Given the description of an element on the screen output the (x, y) to click on. 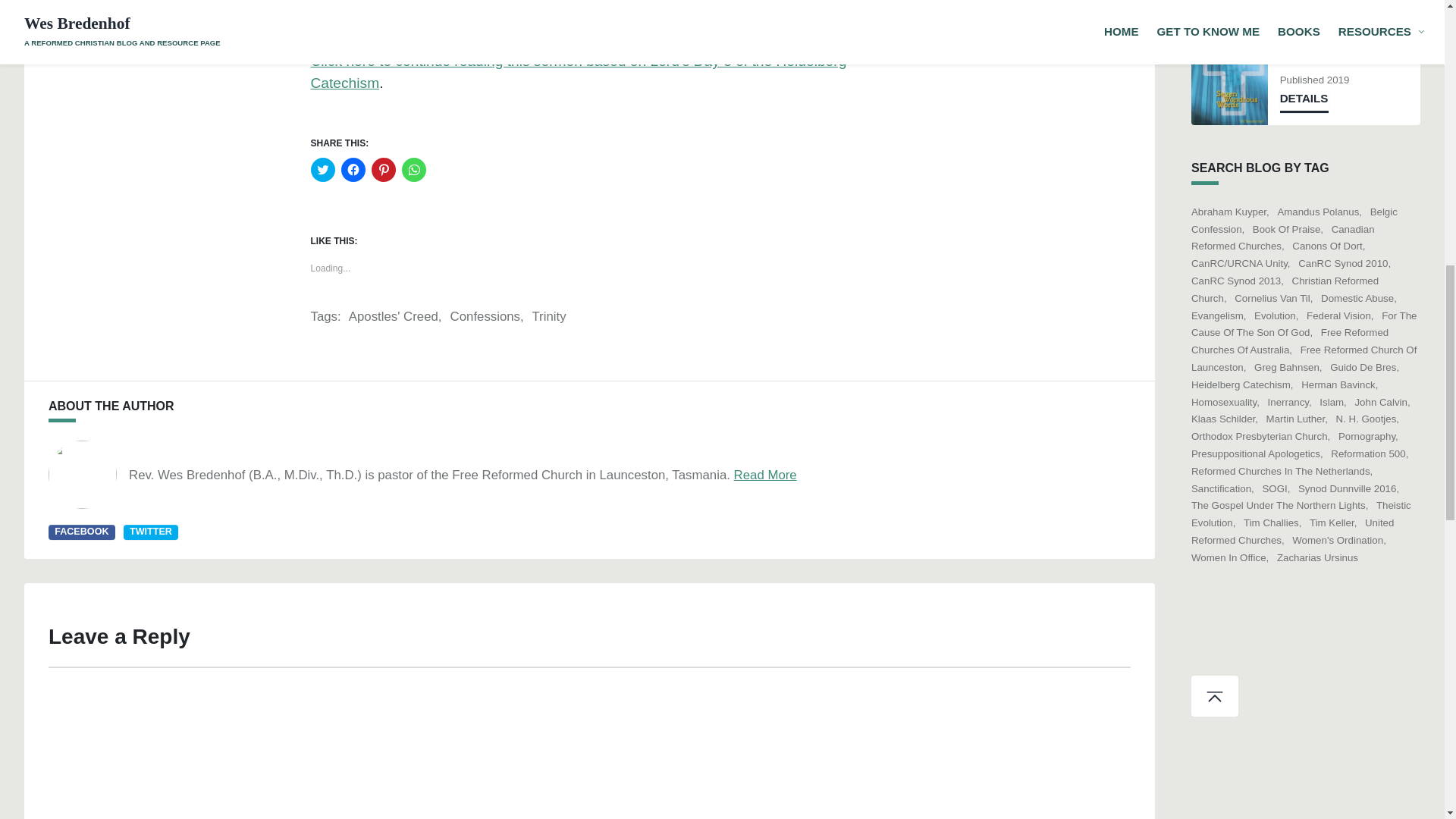
FACEBOOK (81, 531)
TWITTER (150, 531)
Apostles' Creed (395, 316)
Trinity (548, 316)
Confessions (486, 316)
Click to share on WhatsApp (413, 169)
Read More (764, 474)
Click to share on Twitter (322, 169)
Click to share on Pinterest (383, 169)
Click to share on Facebook (352, 169)
